Given the description of an element on the screen output the (x, y) to click on. 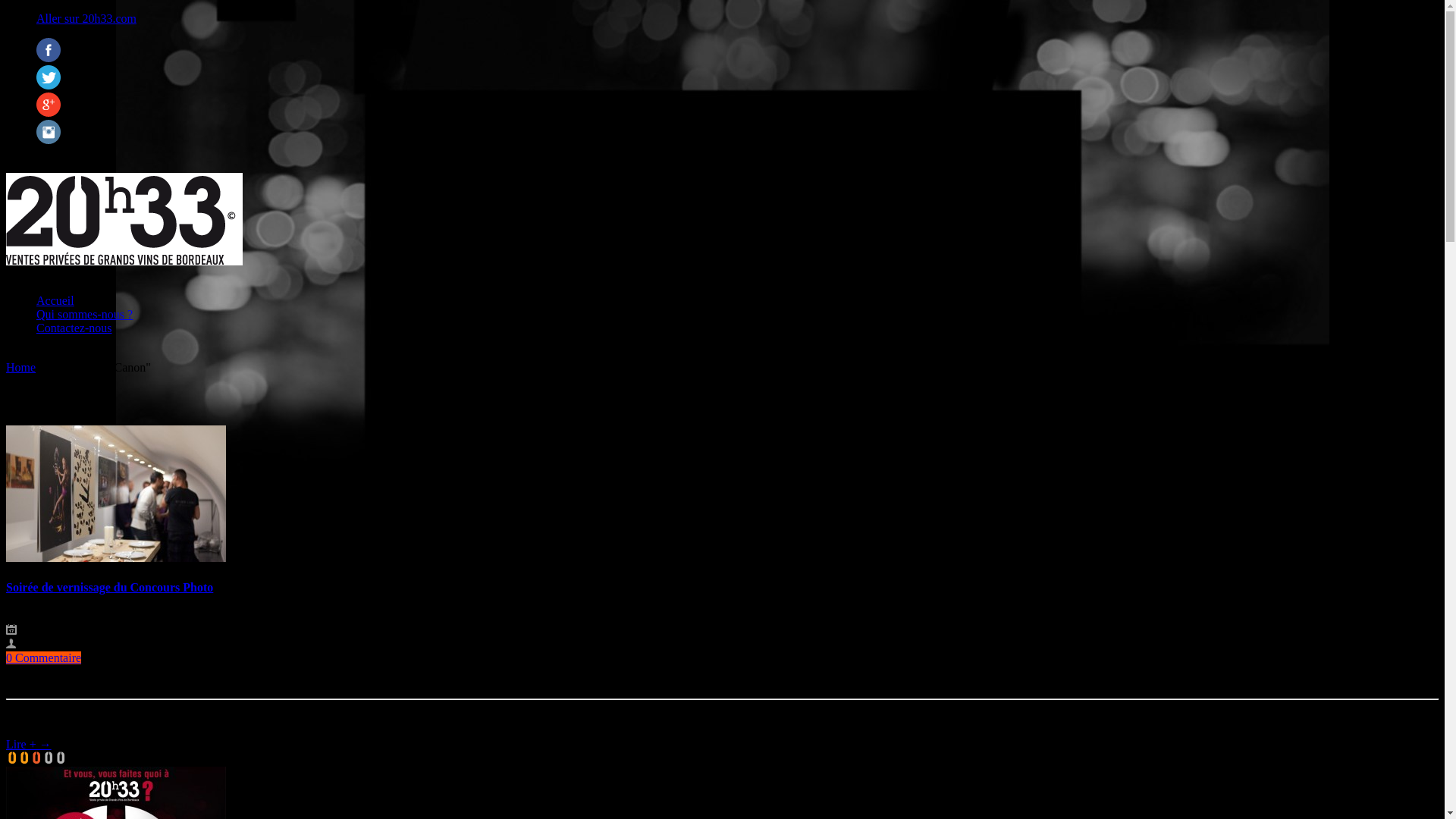
5 votes, average: 2, 80 out of 5 Element type: hover (48, 757)
Accueil Element type: text (55, 300)
Instagram Element type: hover (48, 139)
5 votes, average: 2, 80 out of 5 Element type: hover (12, 757)
5 votes, average: 2, 80 out of 5 Element type: hover (24, 757)
5 votes, average: 2, 80 out of 5 Element type: hover (36, 757)
Home Element type: text (20, 366)
Qui sommes-nous ? Element type: text (84, 313)
Contactez-nous Element type: text (74, 327)
Google+ Element type: hover (48, 112)
0 Commentaire Element type: text (43, 657)
5 votes, average: 2, 80 out of 5 Element type: hover (60, 757)
Aller sur 20h33.com Element type: text (86, 18)
